Given the description of an element on the screen output the (x, y) to click on. 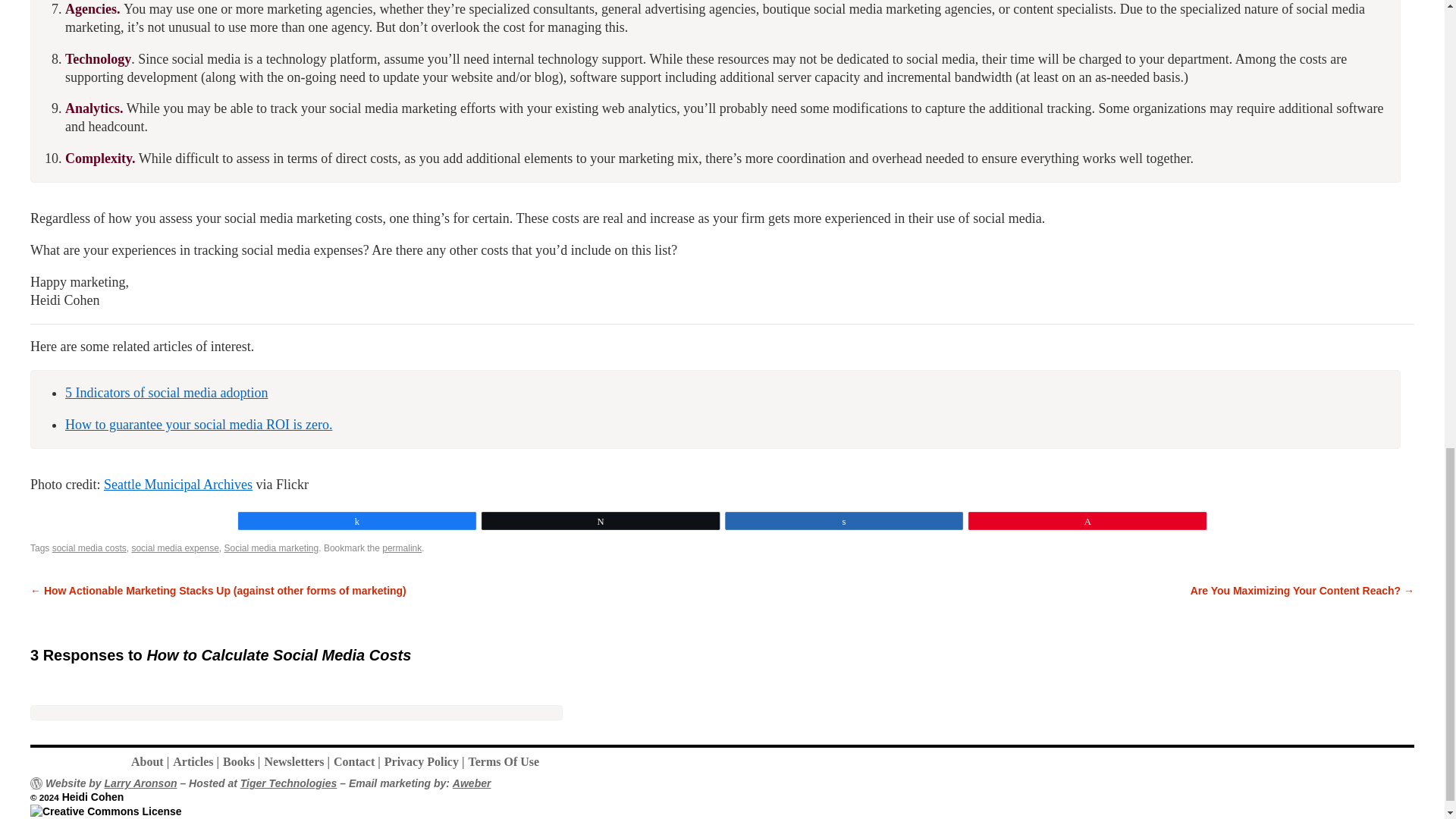
Books (242, 761)
Newsletters (298, 761)
Privacy Policy (426, 761)
About (152, 761)
Aweber (472, 783)
Permalink to How to Calculate Social Media Costs (401, 547)
Articles (197, 761)
Larry Aronson (140, 783)
social media costs (89, 547)
Terms Of Use (505, 761)
